Given the description of an element on the screen output the (x, y) to click on. 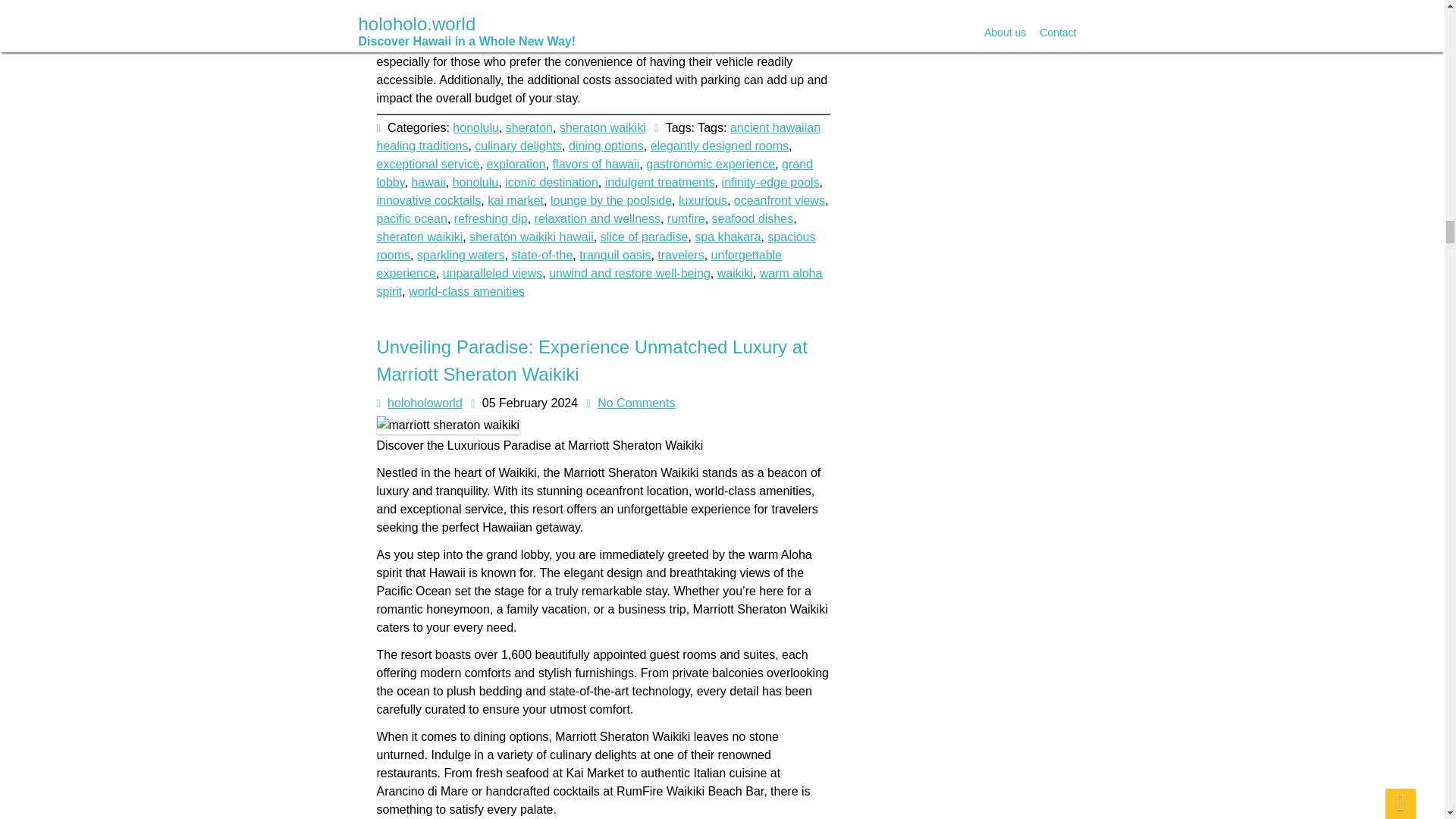
Posts by holoholoworld (425, 402)
